Given the description of an element on the screen output the (x, y) to click on. 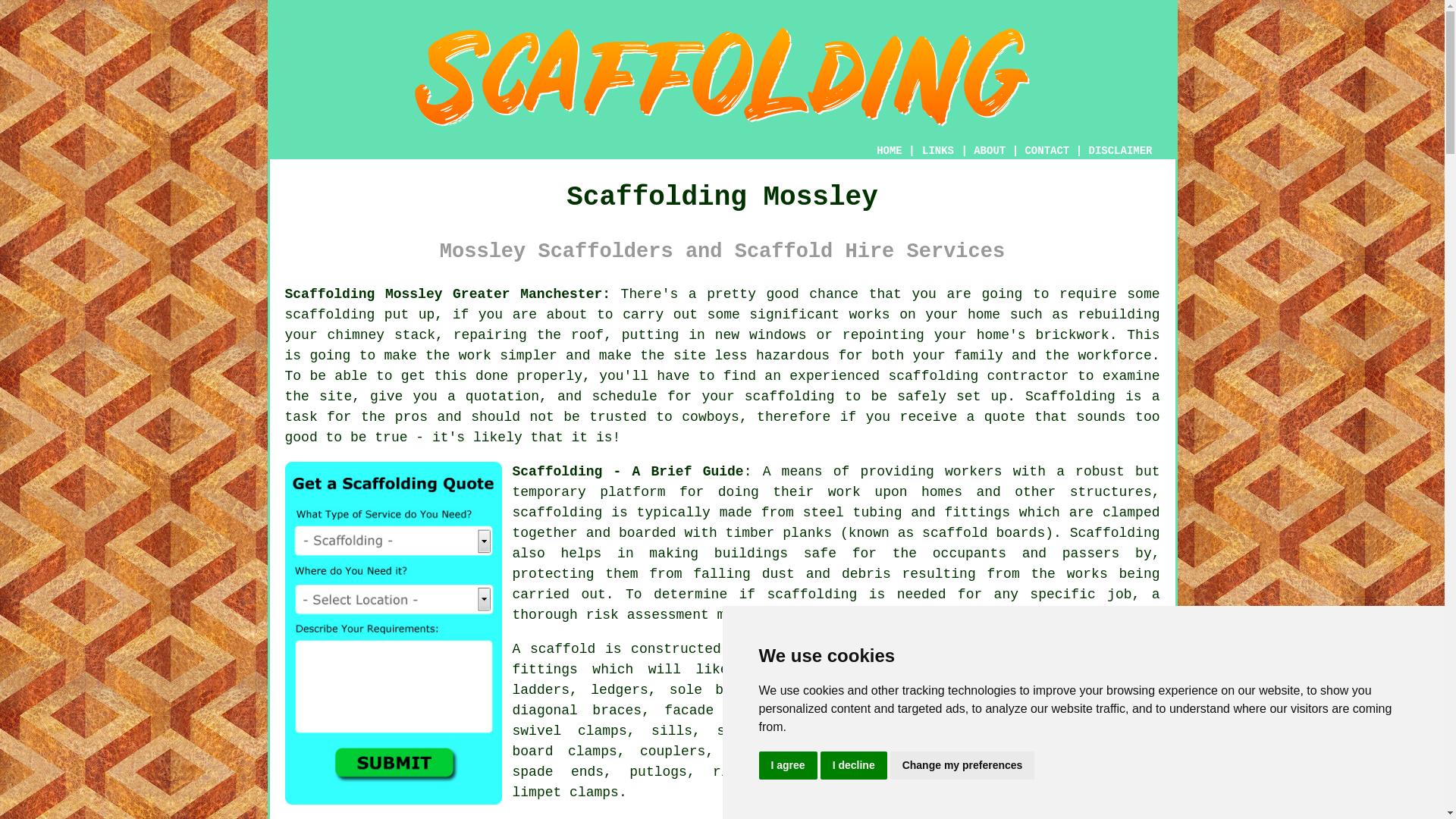
scaffolding (330, 314)
couplers (672, 751)
Scaffolding Mossley Greater Manchester (1046, 713)
I agree (787, 765)
HOME (889, 150)
ledgers (619, 689)
LINKS (938, 151)
scaffold boards (849, 689)
Scaffolding Mossley Greater Manchester UK (448, 294)
scaffold (562, 648)
